Given the description of an element on the screen output the (x, y) to click on. 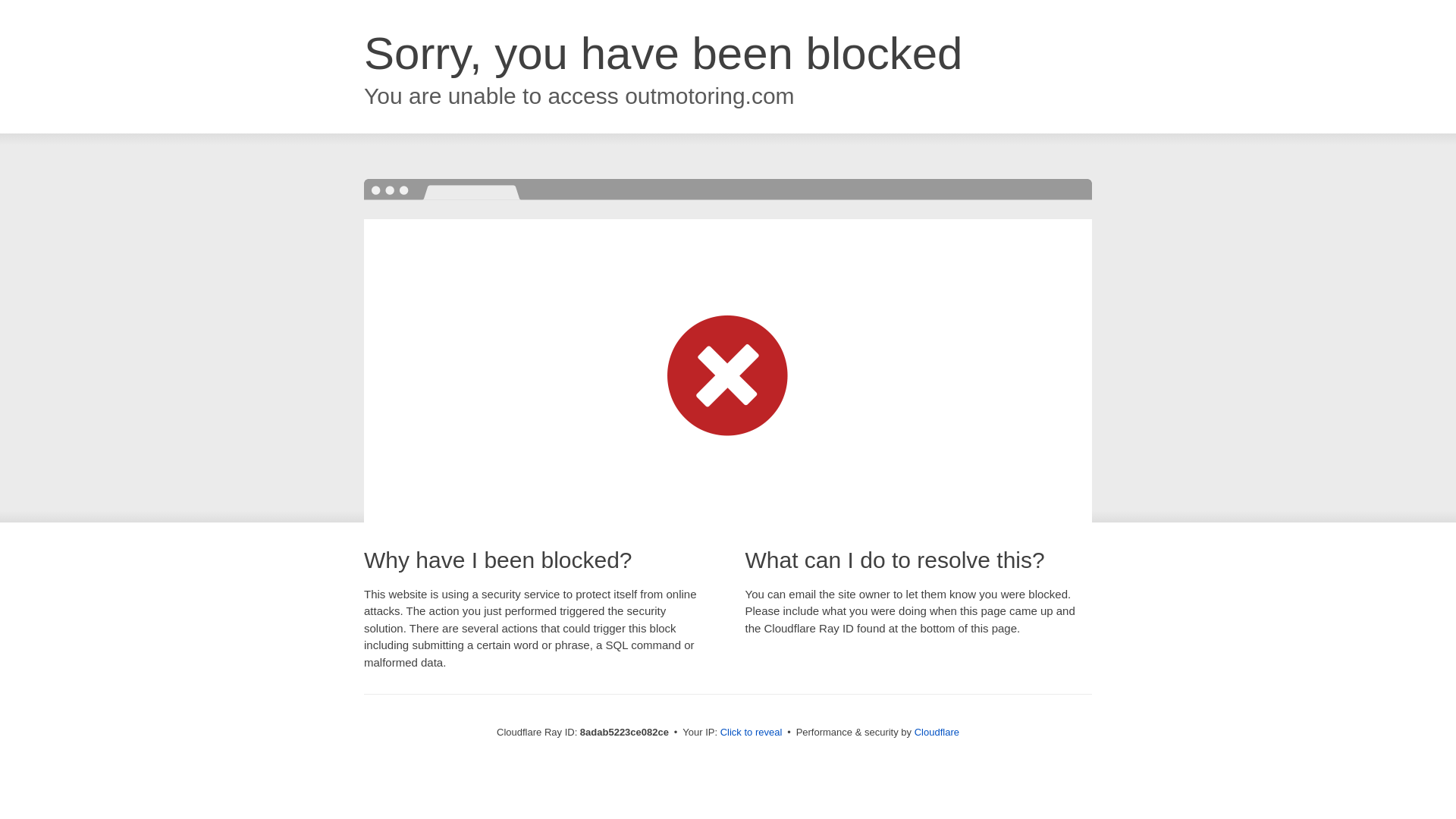
Cloudflare (936, 731)
Click to reveal (750, 732)
